Given the description of an element on the screen output the (x, y) to click on. 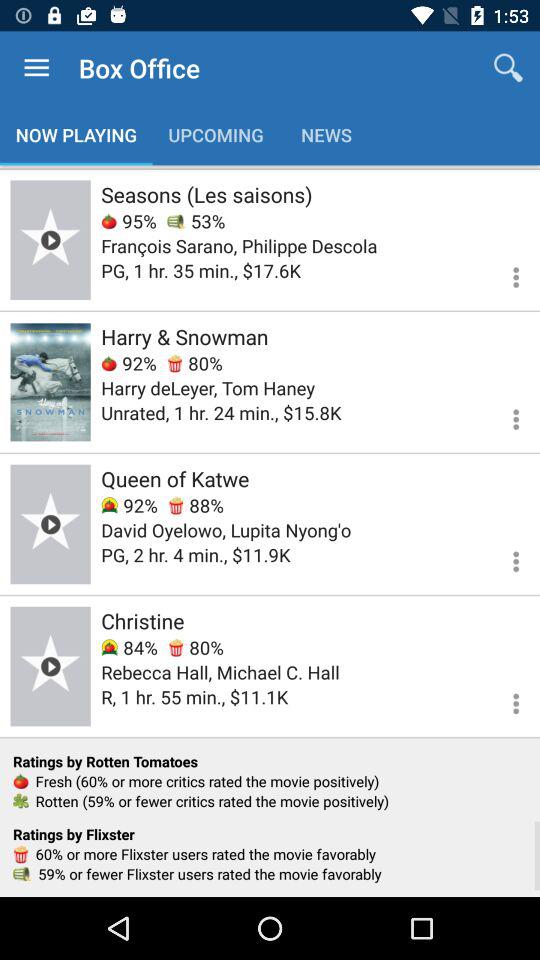
go to options (503, 416)
